Given the description of an element on the screen output the (x, y) to click on. 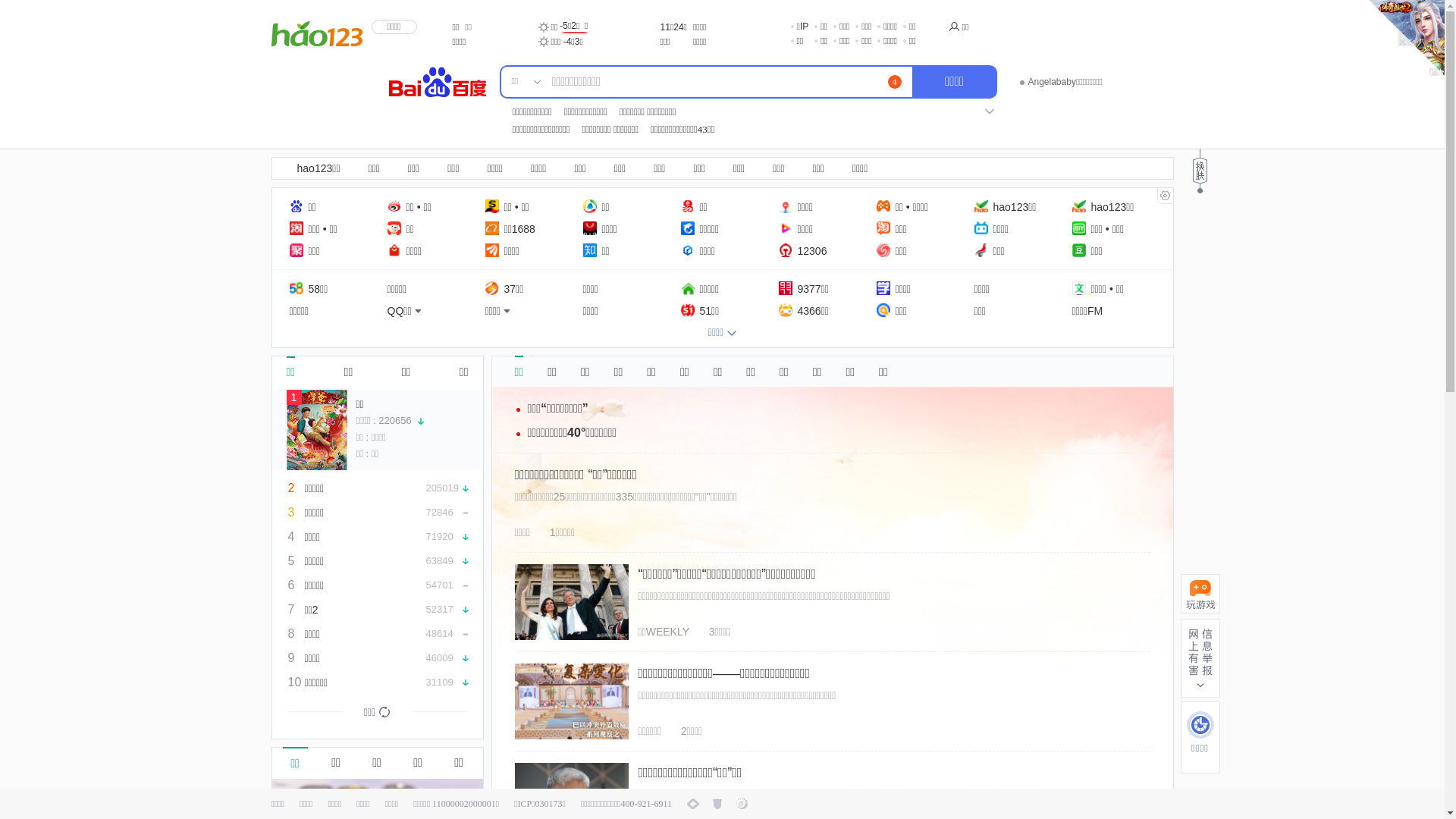
12306 Element type: text (802, 250)
4 Element type: text (893, 81)
